Given the description of an element on the screen output the (x, y) to click on. 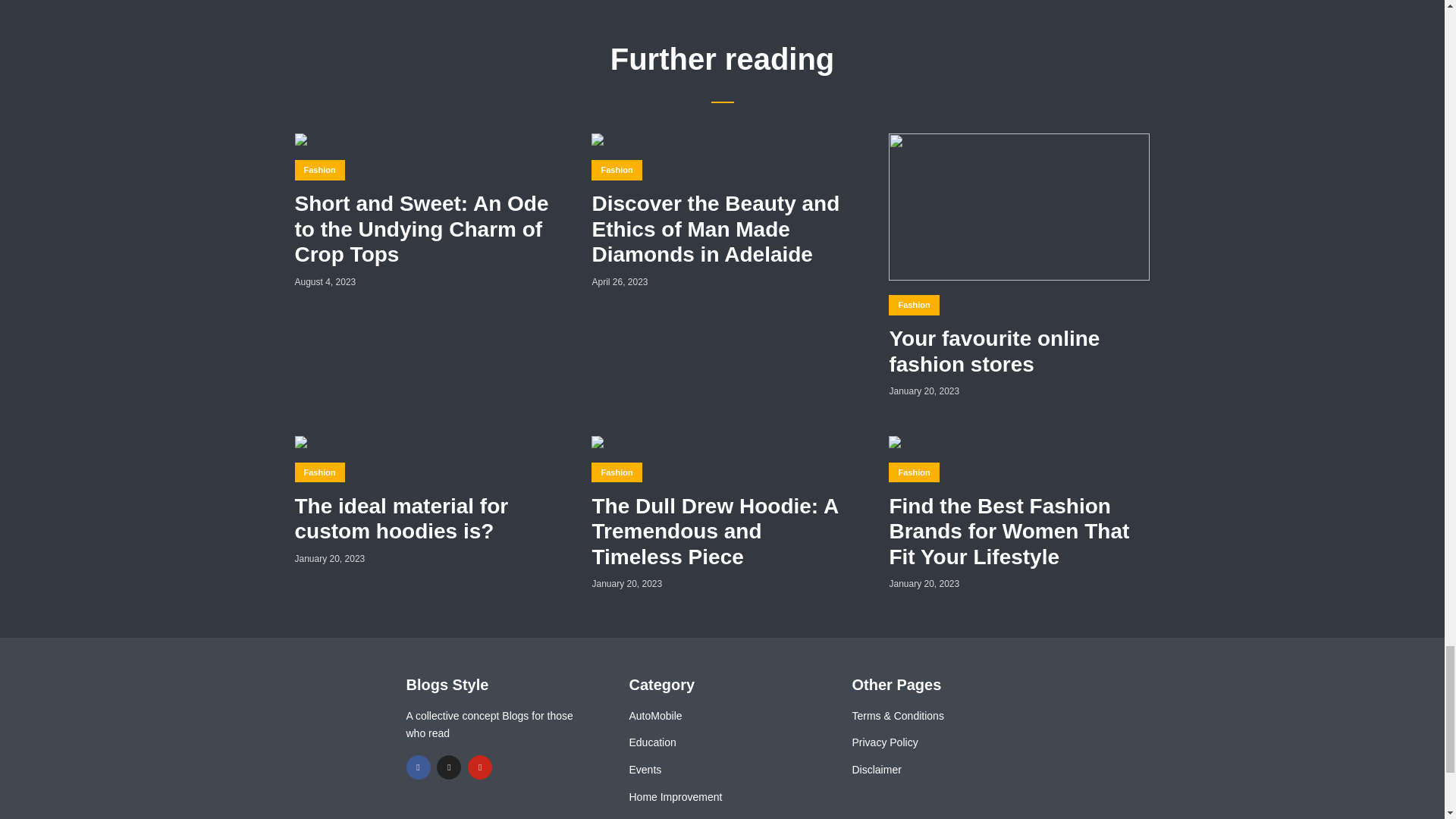
Pinterest (479, 767)
Facebook (418, 767)
